Given the description of an element on the screen output the (x, y) to click on. 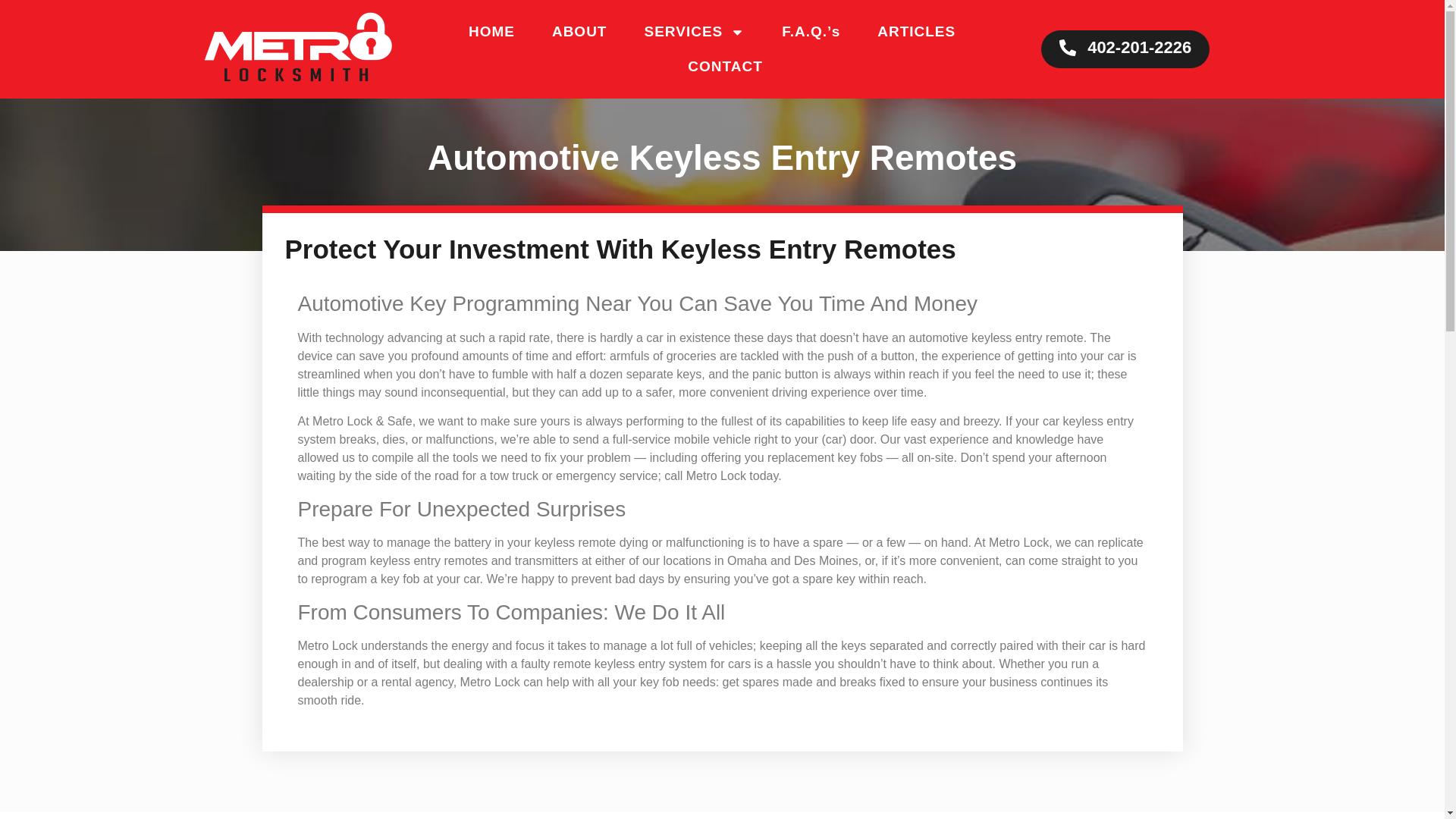
ARTICLES (916, 31)
ABOUT (579, 31)
CONTACT (724, 66)
402-201-2226 (1125, 48)
HOME (491, 31)
SERVICES (694, 31)
